Given the description of an element on the screen output the (x, y) to click on. 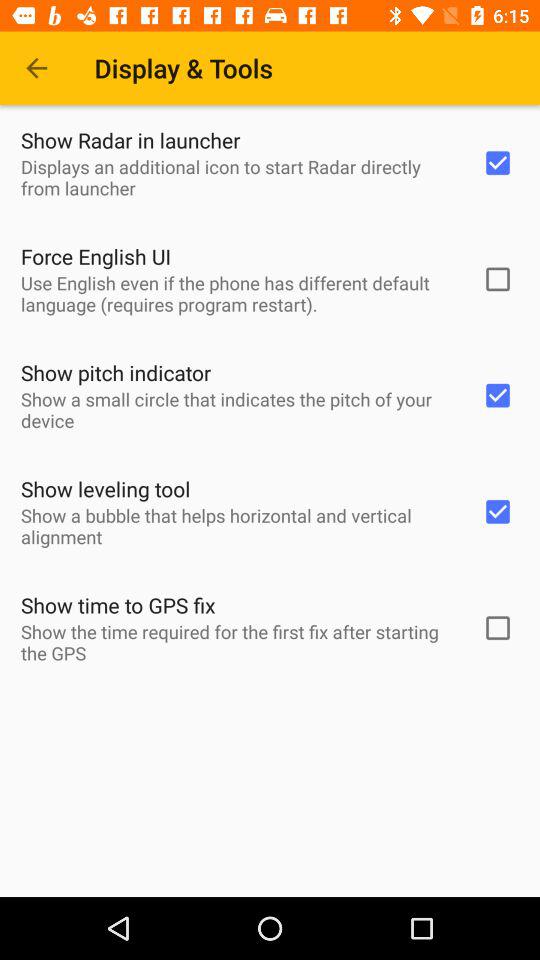
click use english even item (238, 293)
